Given the description of an element on the screen output the (x, y) to click on. 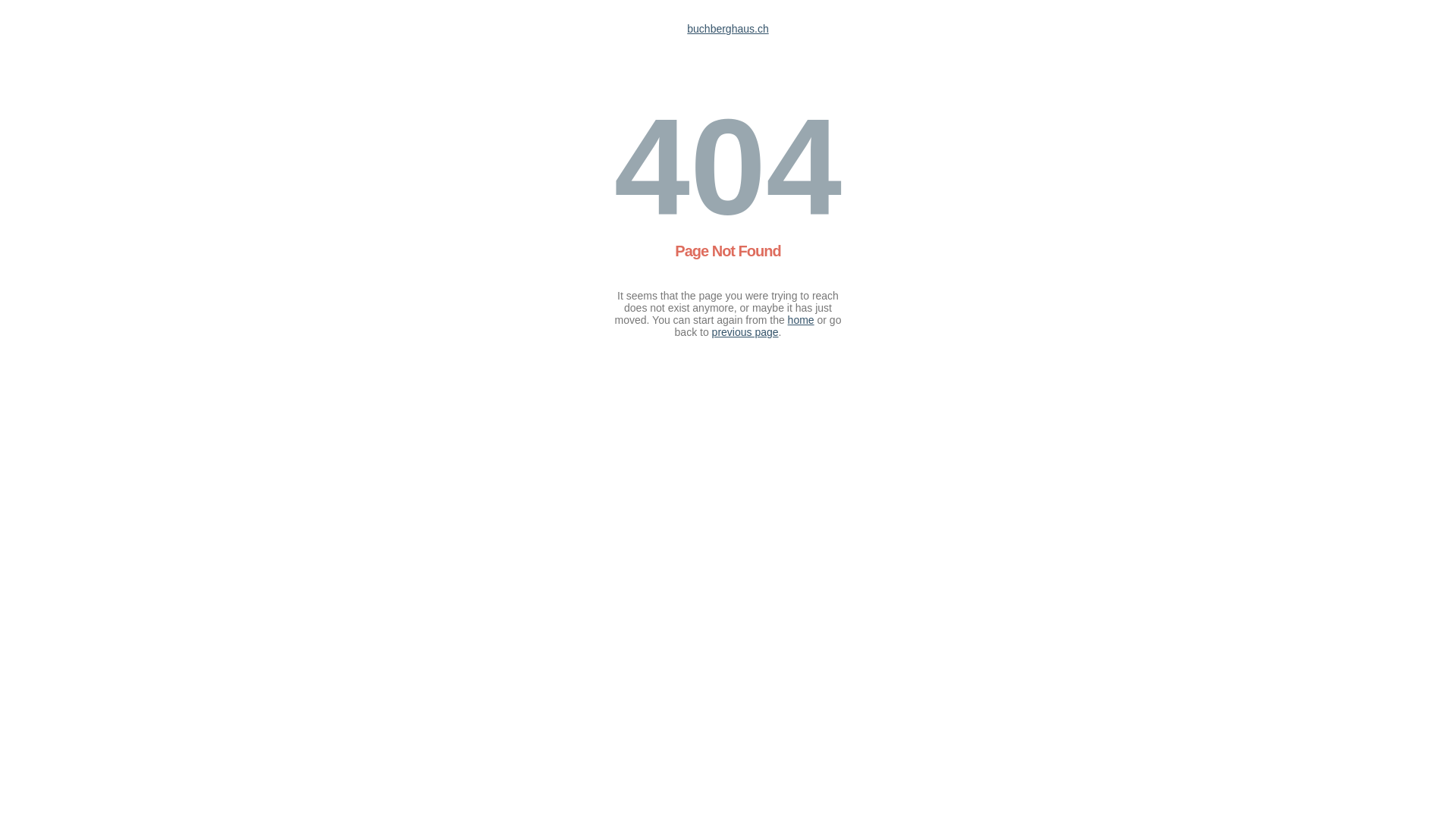
home Element type: text (800, 319)
previous page Element type: text (745, 332)
buchberghaus.ch Element type: text (727, 28)
